Given the description of an element on the screen output the (x, y) to click on. 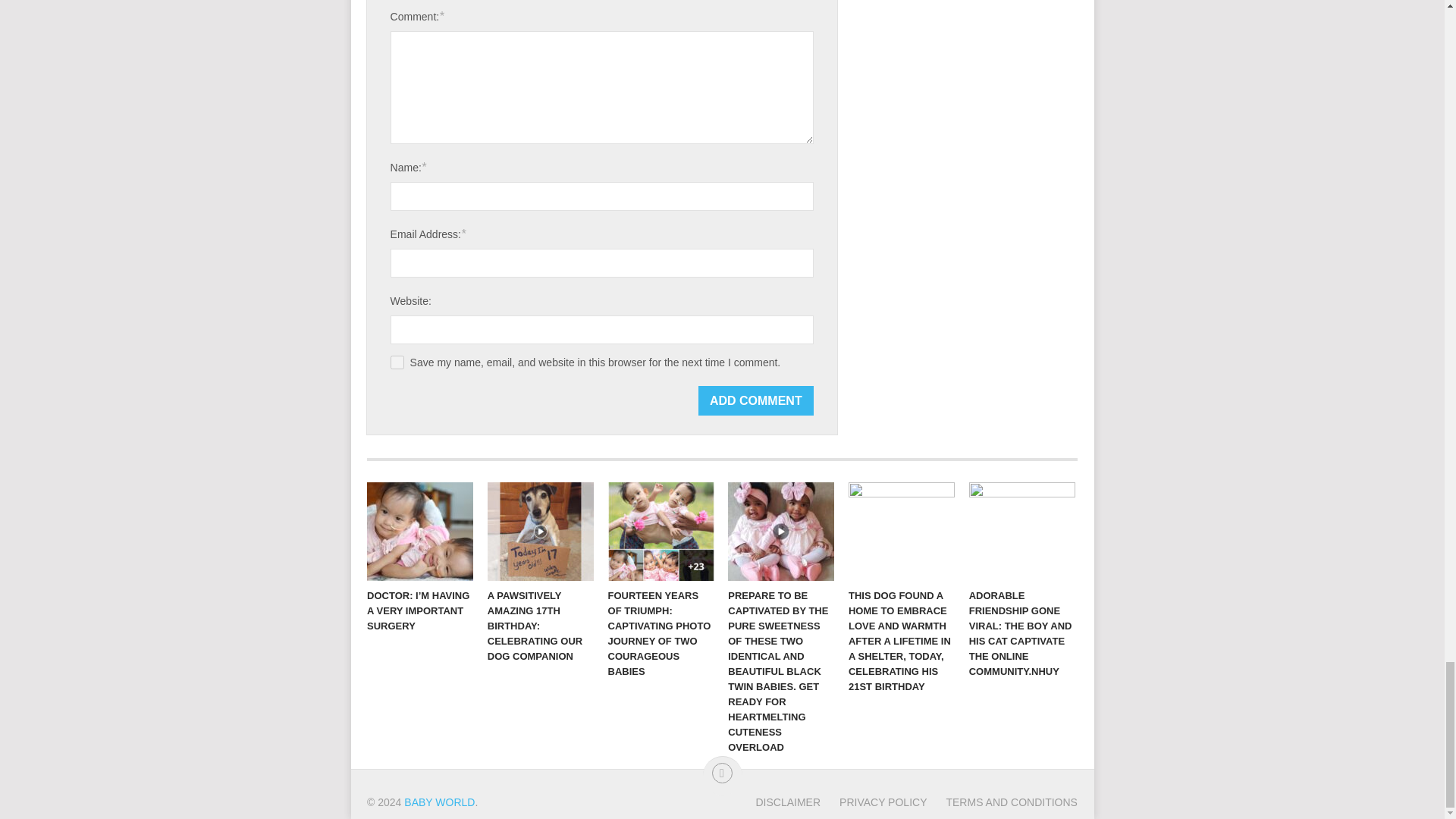
yes (397, 362)
Add Comment (755, 400)
Add Comment (755, 400)
